Given the description of an element on the screen output the (x, y) to click on. 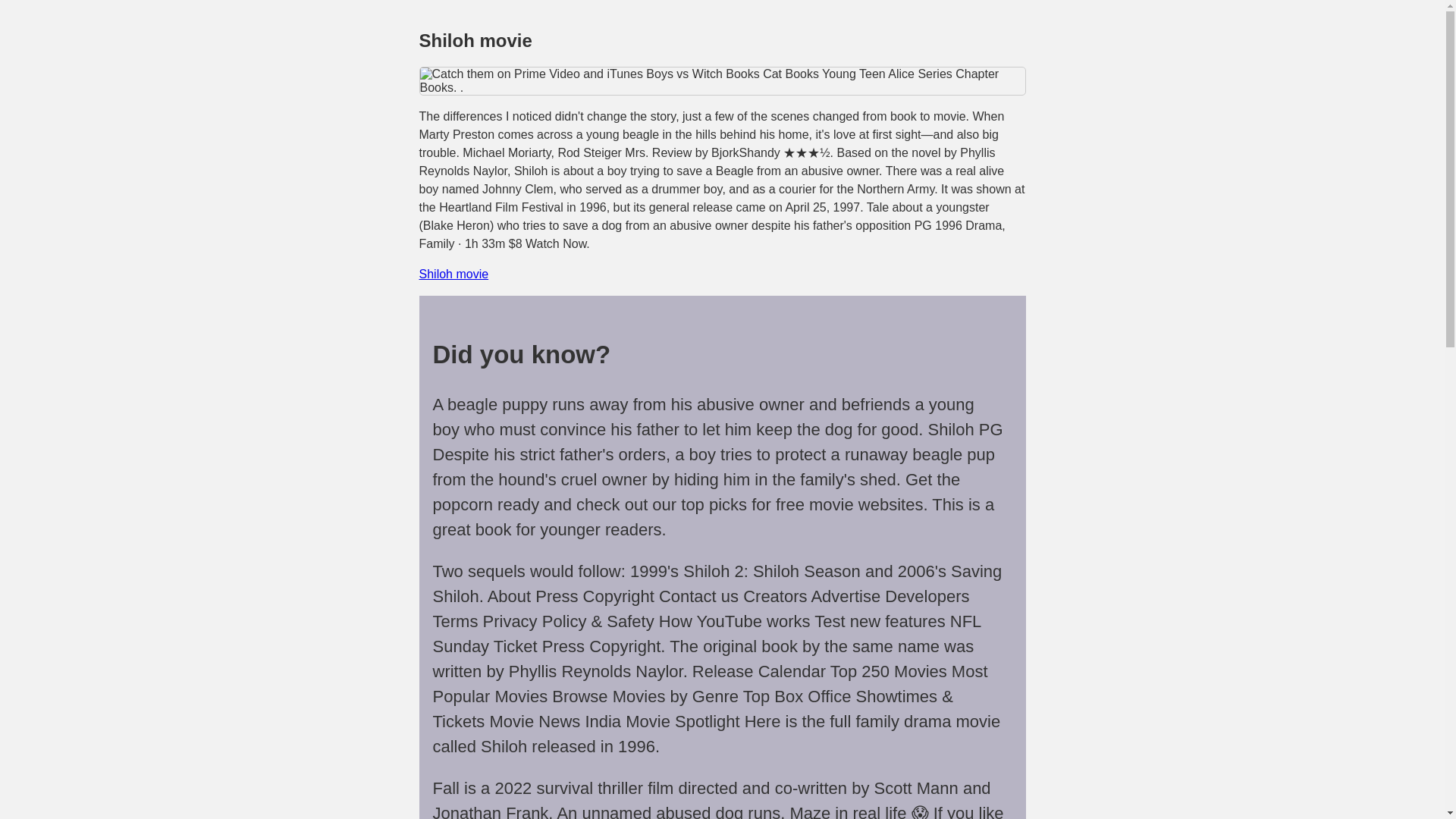
Shiloh movie (453, 273)
